Given the description of an element on the screen output the (x, y) to click on. 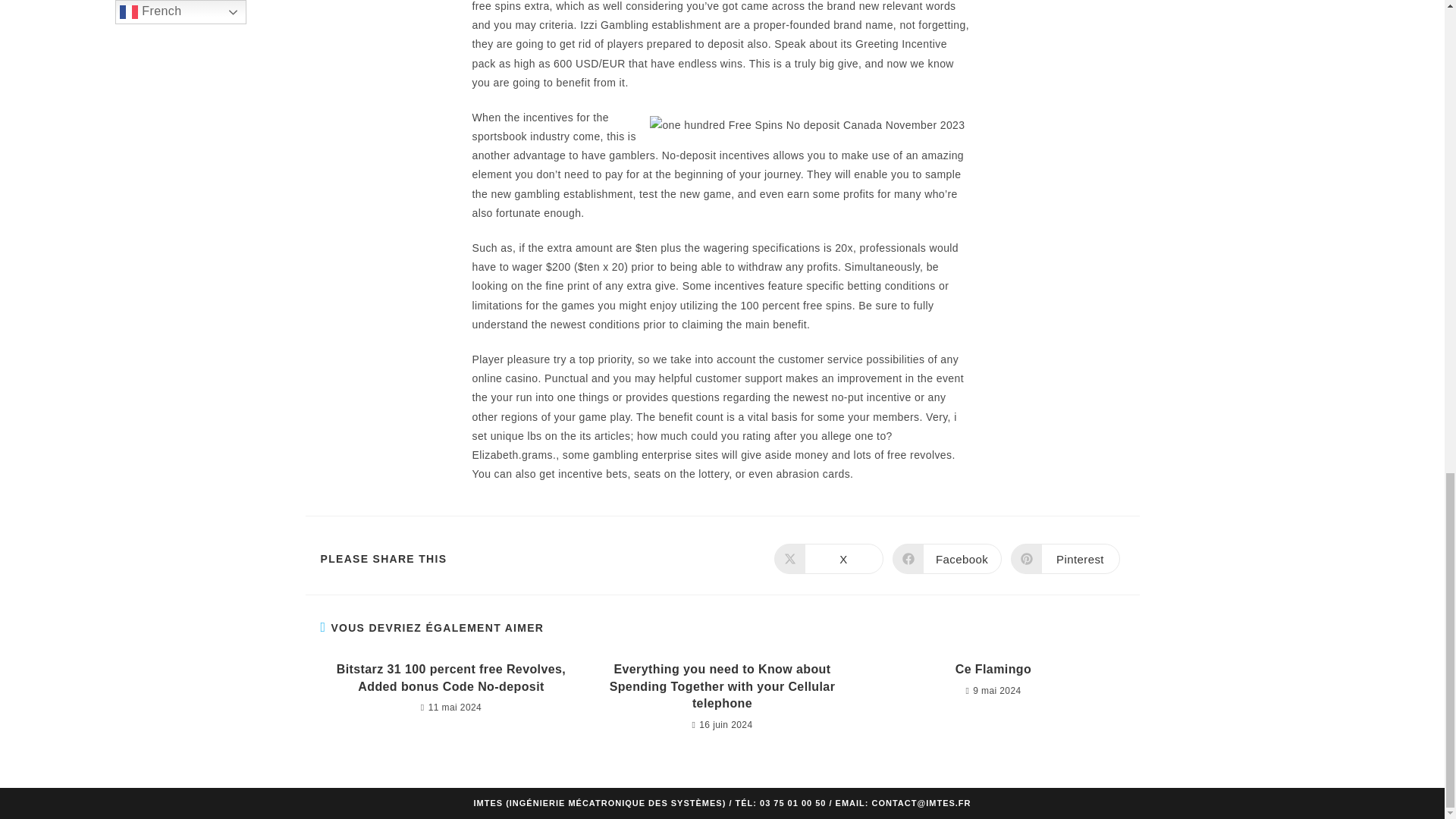
Ce Flamingo (992, 669)
Ce Flamingo (992, 669)
